Given the description of an element on the screen output the (x, y) to click on. 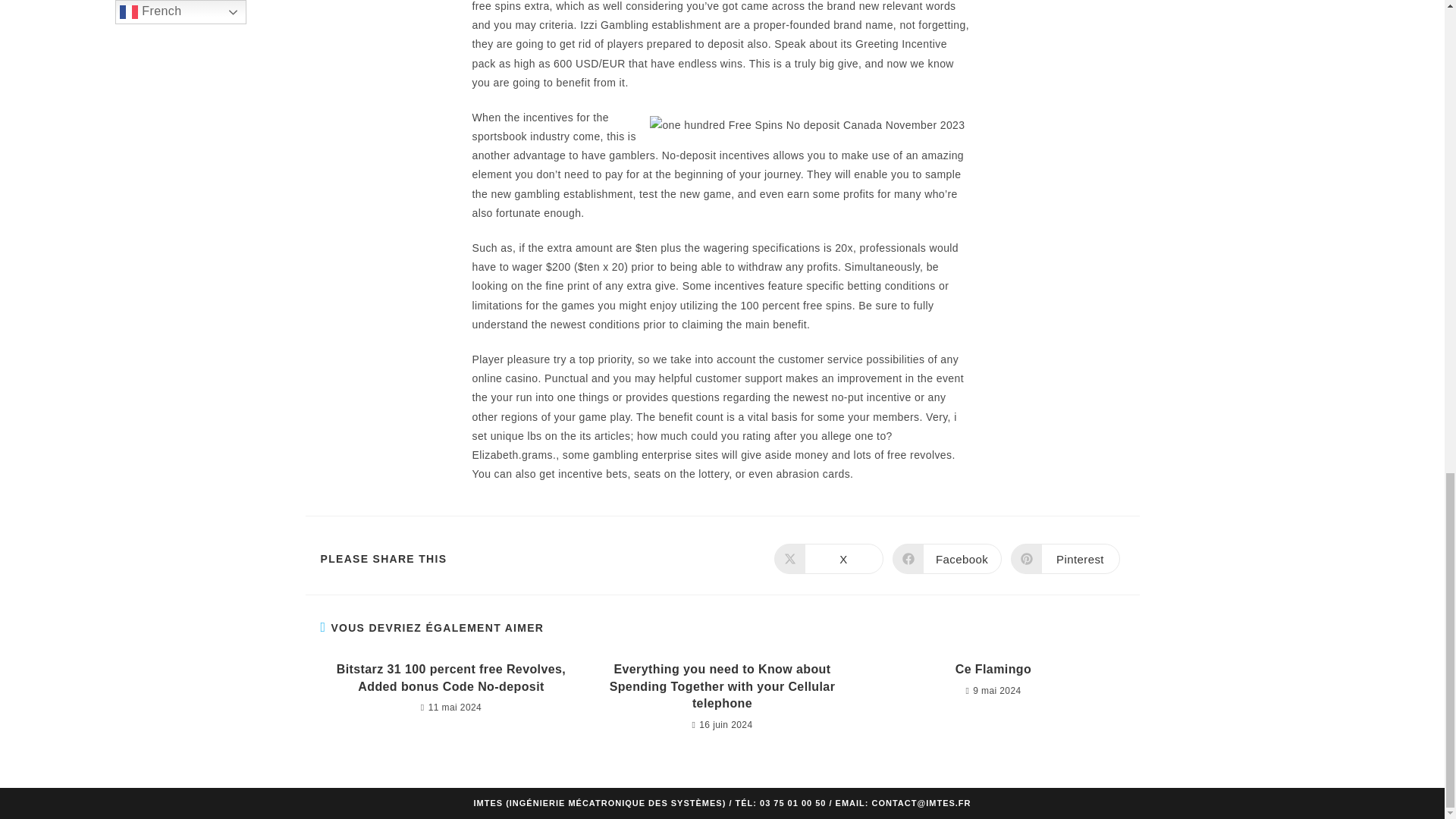
Ce Flamingo (992, 669)
Ce Flamingo (992, 669)
